Given the description of an element on the screen output the (x, y) to click on. 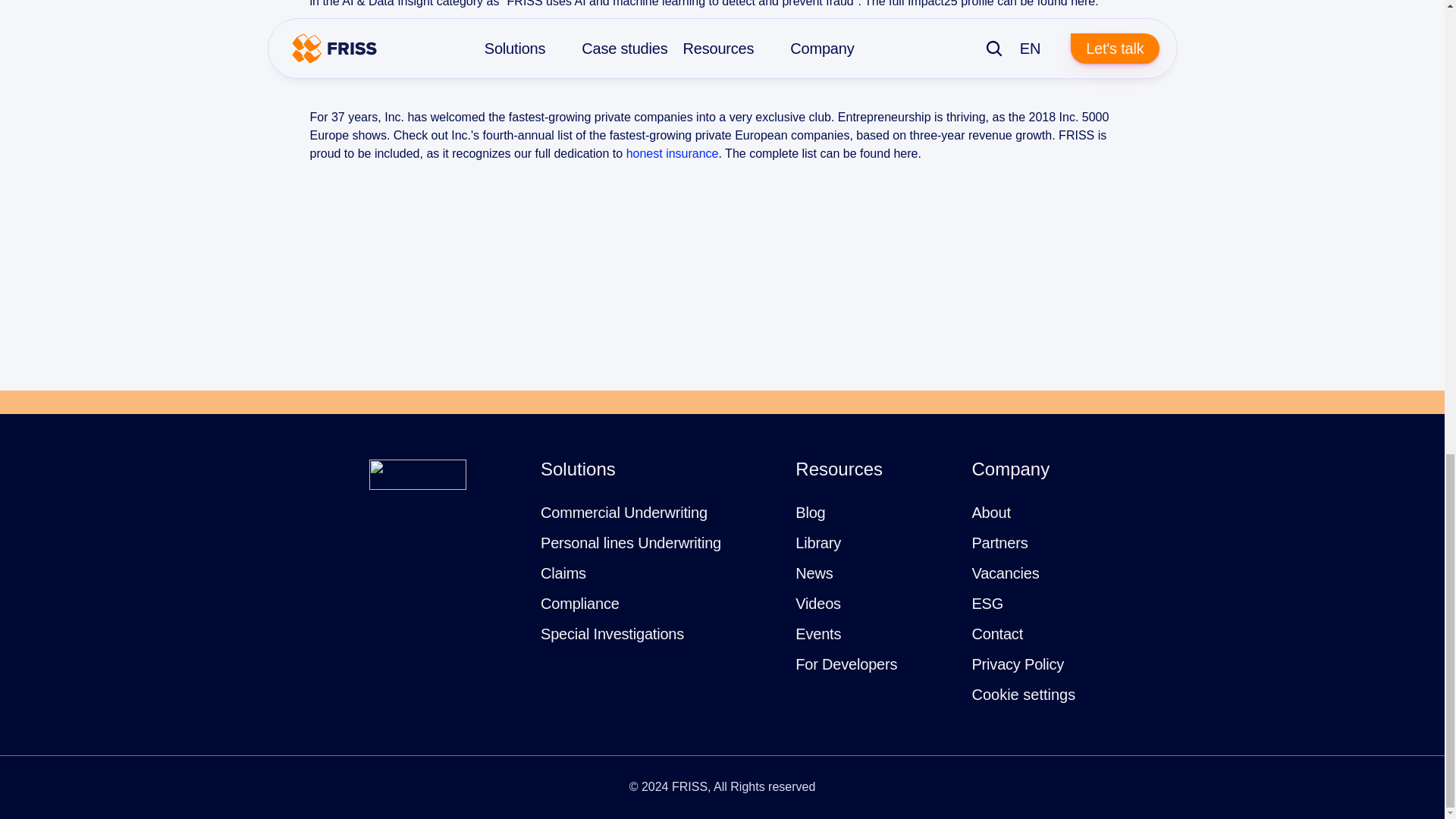
Special Investigations (612, 634)
Personal lines Underwriting (630, 542)
Blog (809, 512)
About (990, 512)
Claims (563, 572)
Vacancies (1005, 572)
Contact (997, 634)
Library (817, 542)
News (813, 572)
Videos (817, 603)
